Given the description of an element on the screen output the (x, y) to click on. 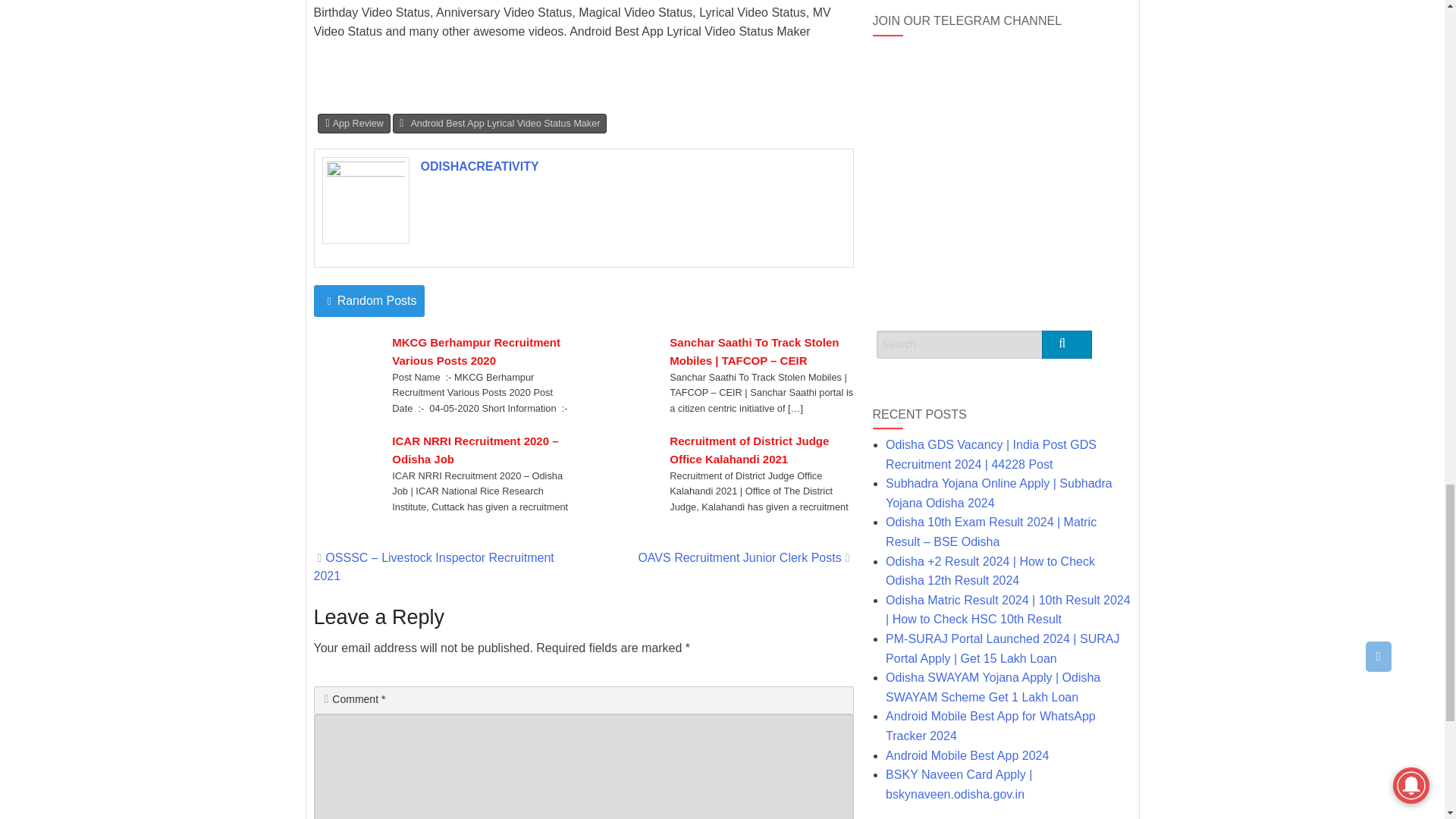
App Review (353, 123)
MKCG Berhampur Recruitment Various Posts 2020 (483, 351)
ODISHACREATIVITY (479, 165)
Android Best App Lyrical Video Status Maker (500, 123)
Go (1067, 344)
